Given the description of an element on the screen output the (x, y) to click on. 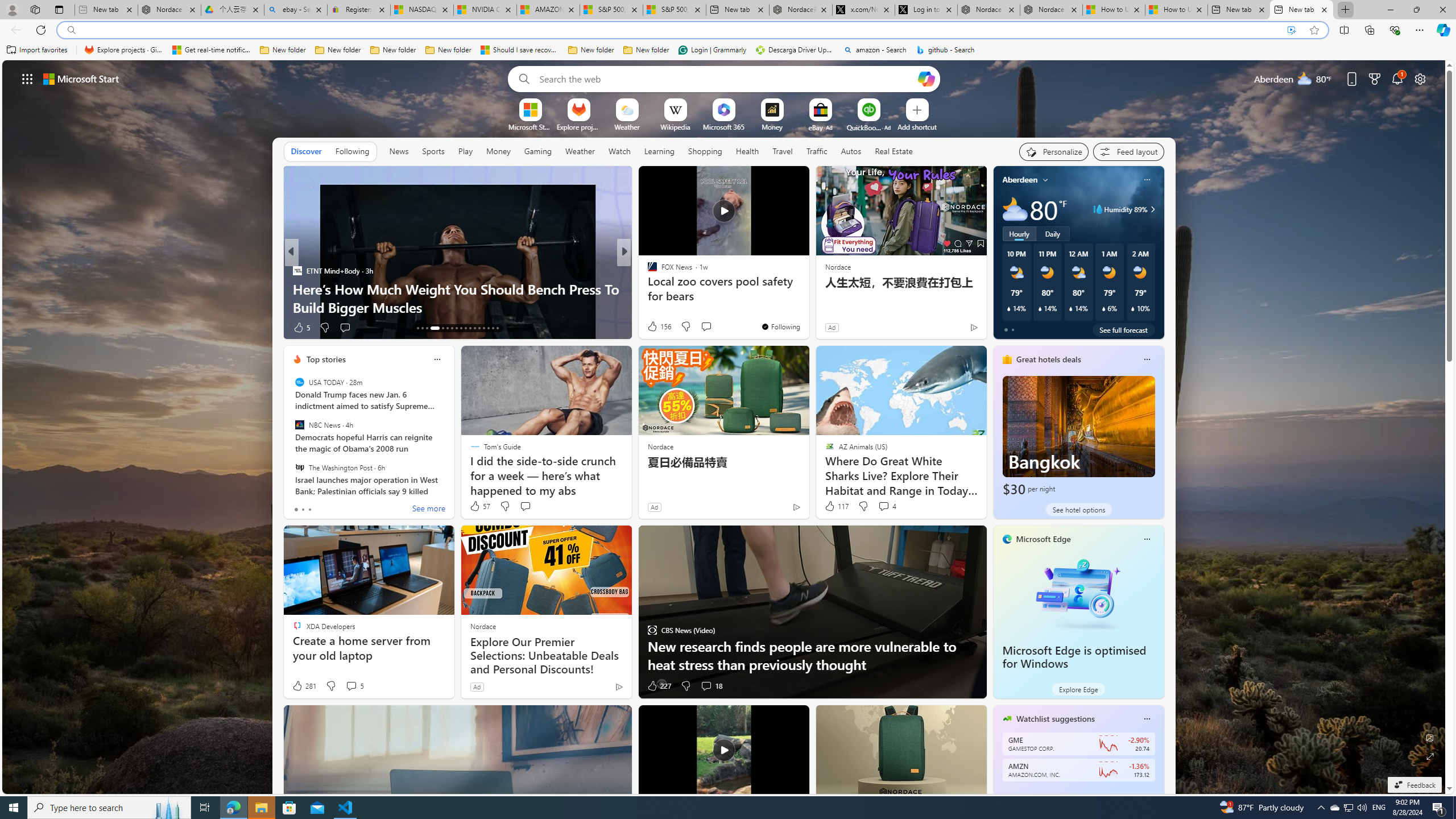
AutomationID: backgroundImagePicture (723, 426)
Gaming (537, 151)
View comments 117 Comment (705, 327)
Import favorites (36, 49)
Learning (658, 151)
View comments 18 Comment (710, 685)
Top stories (325, 359)
Feed settings (1128, 151)
